Given the description of an element on the screen output the (x, y) to click on. 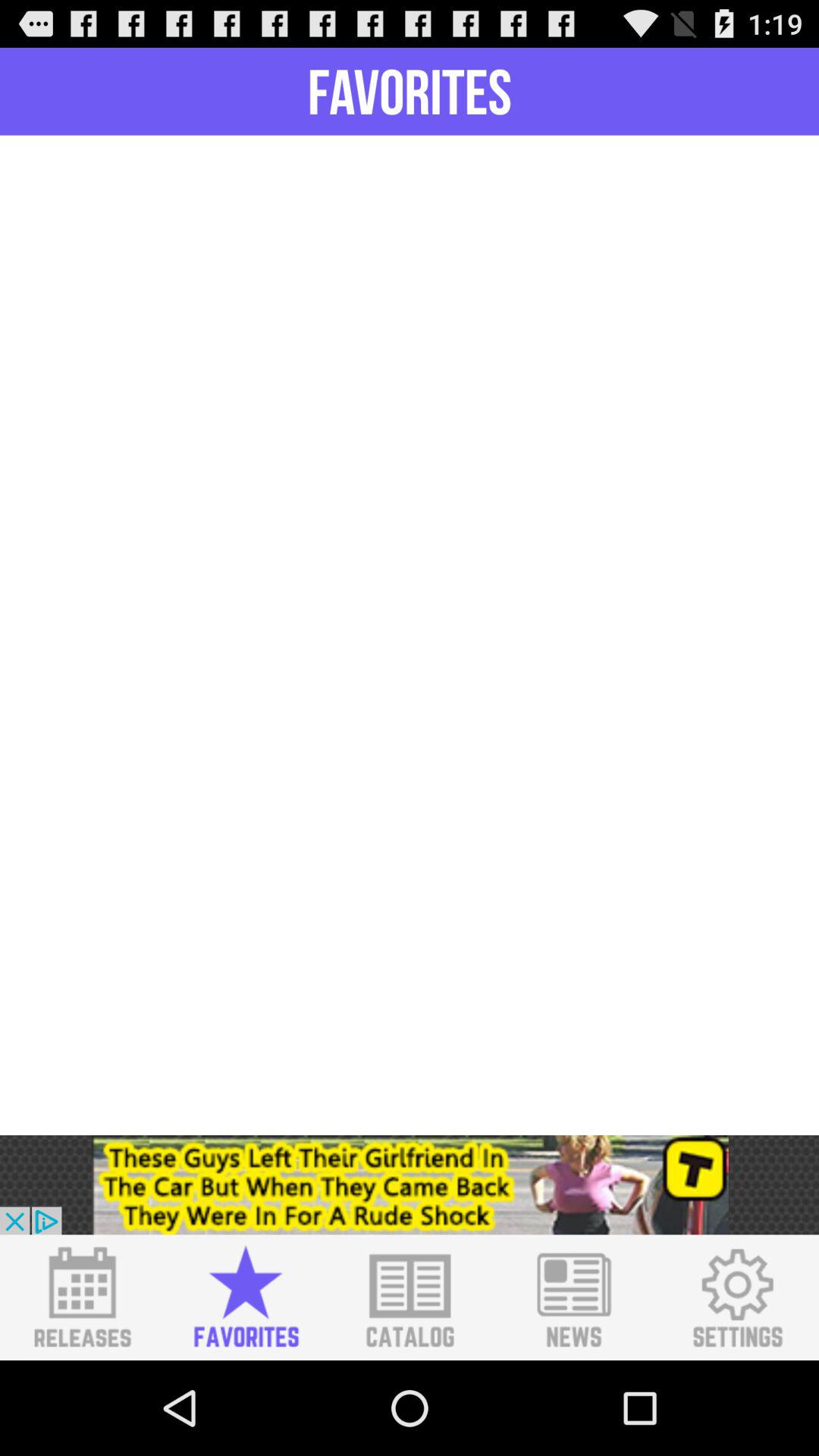
settings (737, 1297)
